Given the description of an element on the screen output the (x, y) to click on. 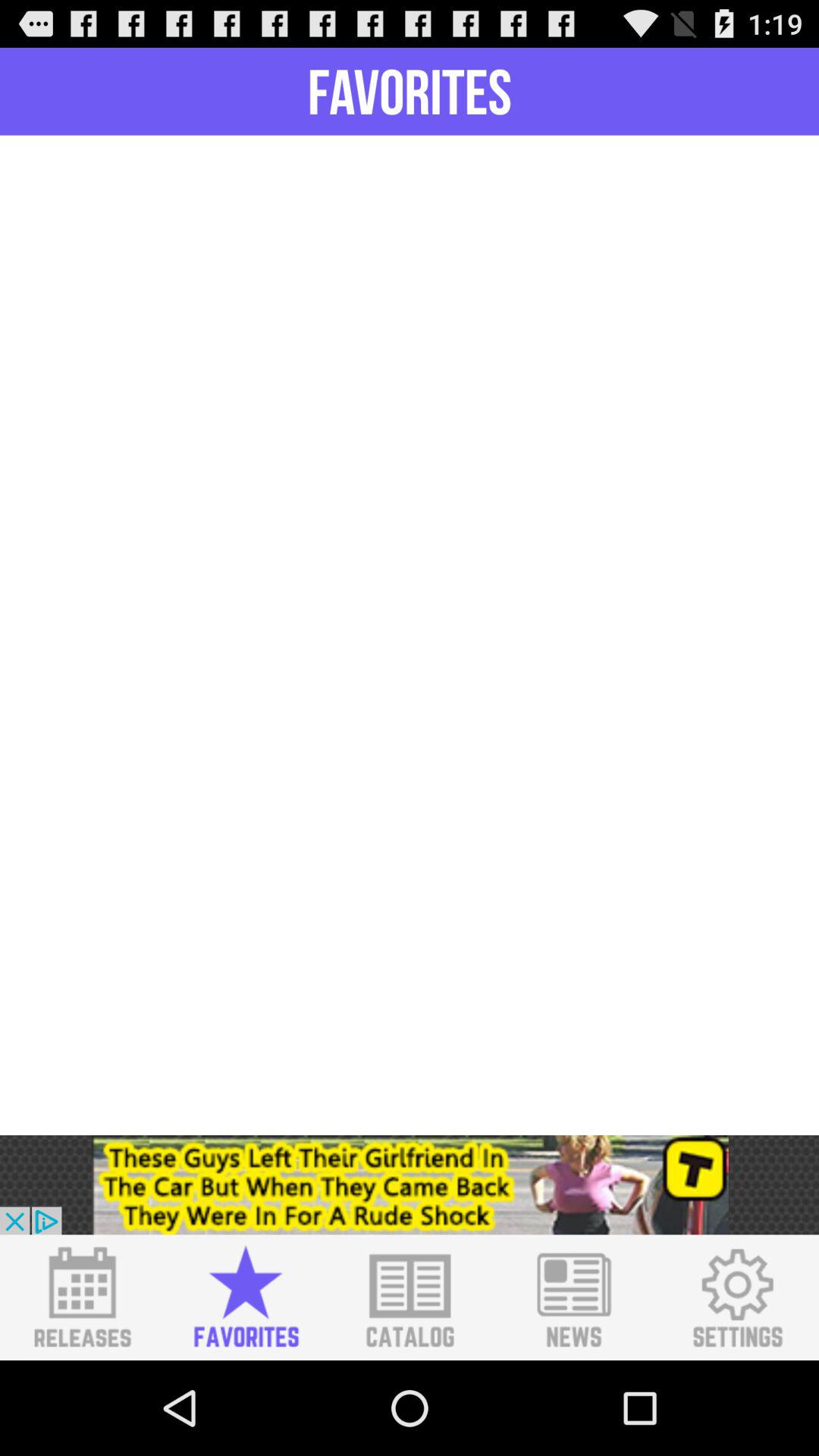
settings (737, 1297)
